Given the description of an element on the screen output the (x, y) to click on. 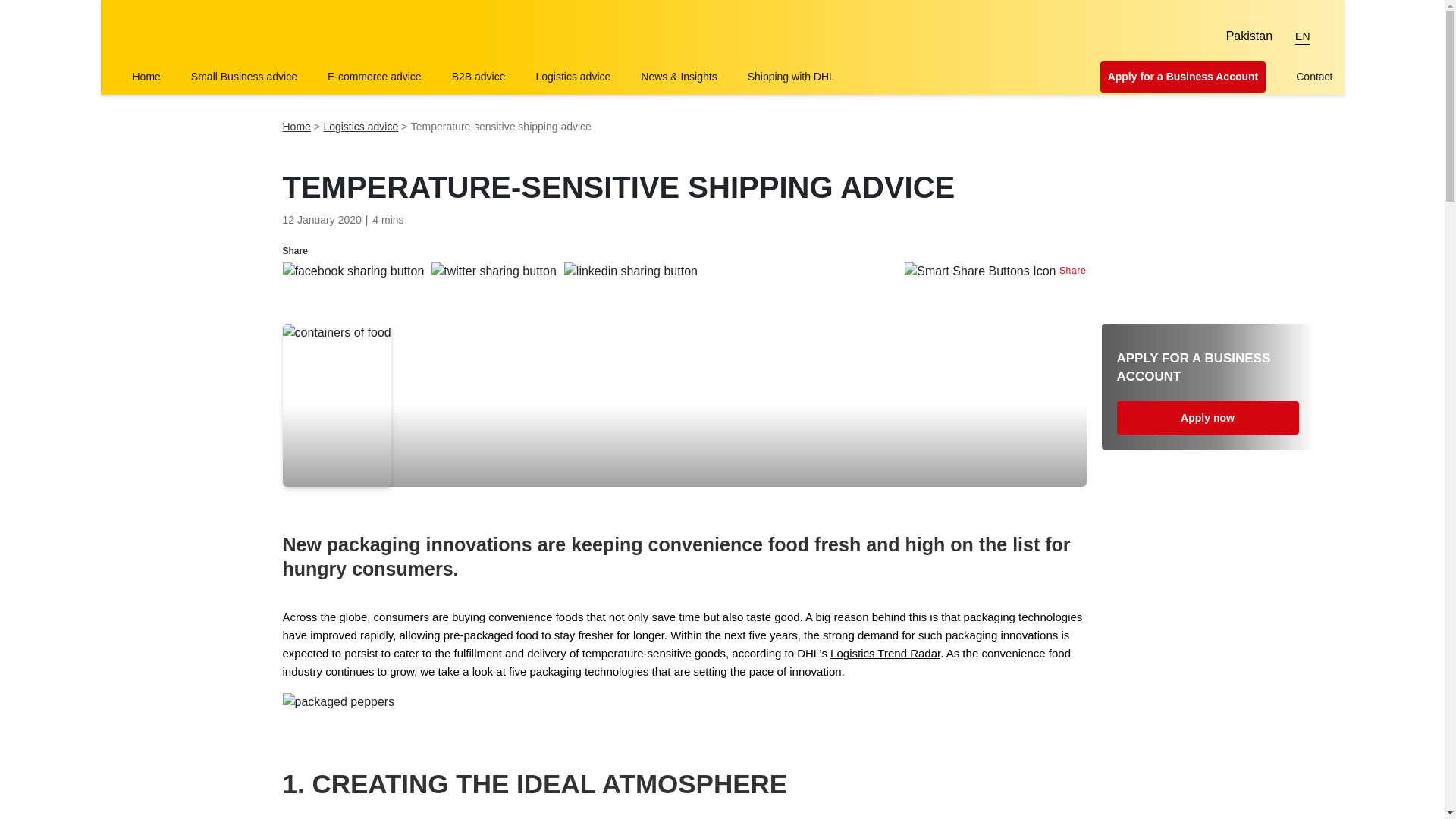
EN (1301, 36)
Pakistan (1238, 36)
Apply now (1207, 417)
Apply for a Business Account (1183, 76)
